Given the description of an element on the screen output the (x, y) to click on. 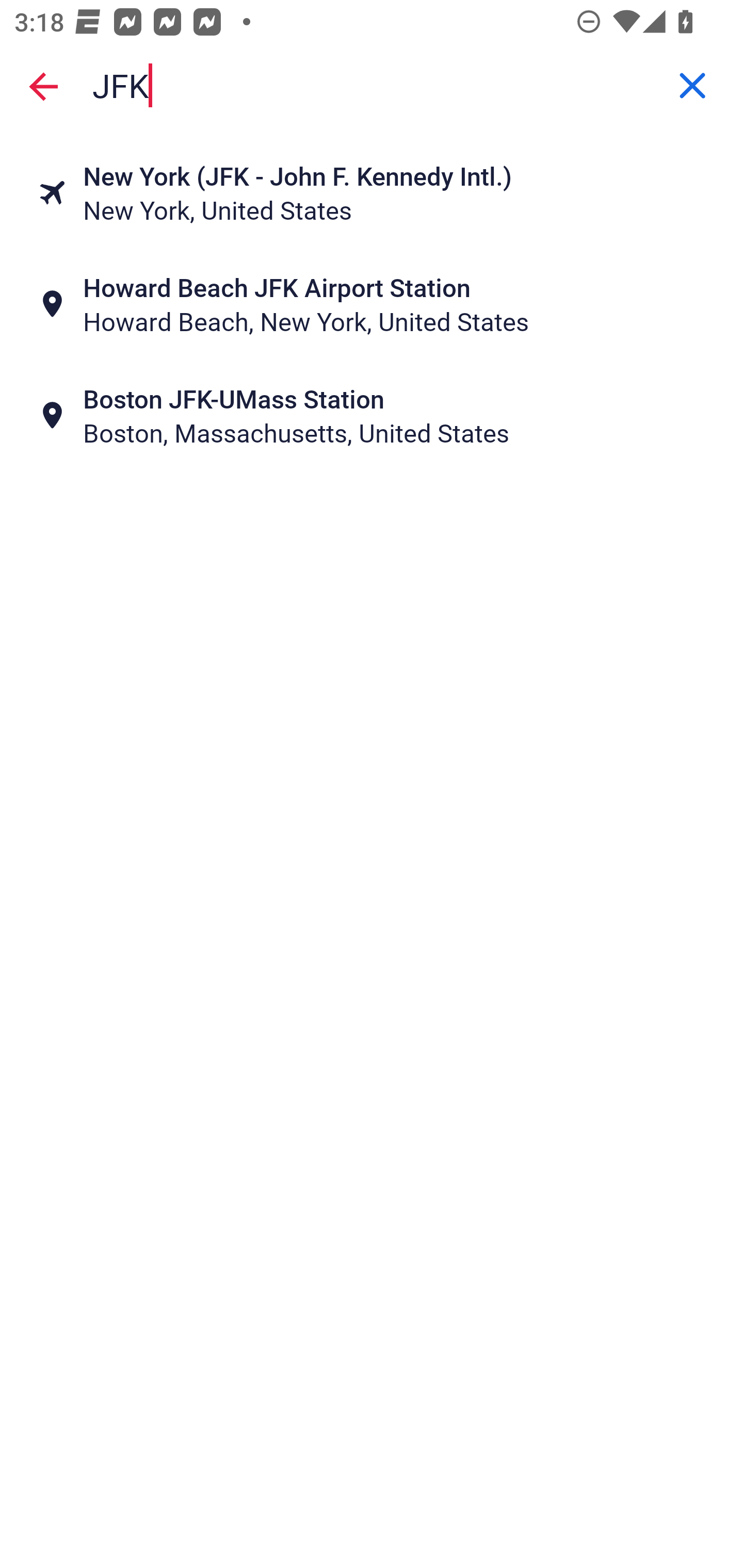
Clear Drop-off (692, 85)
Drop-off, JFK (371, 85)
Close search screen (43, 86)
